Given the description of an element on the screen output the (x, y) to click on. 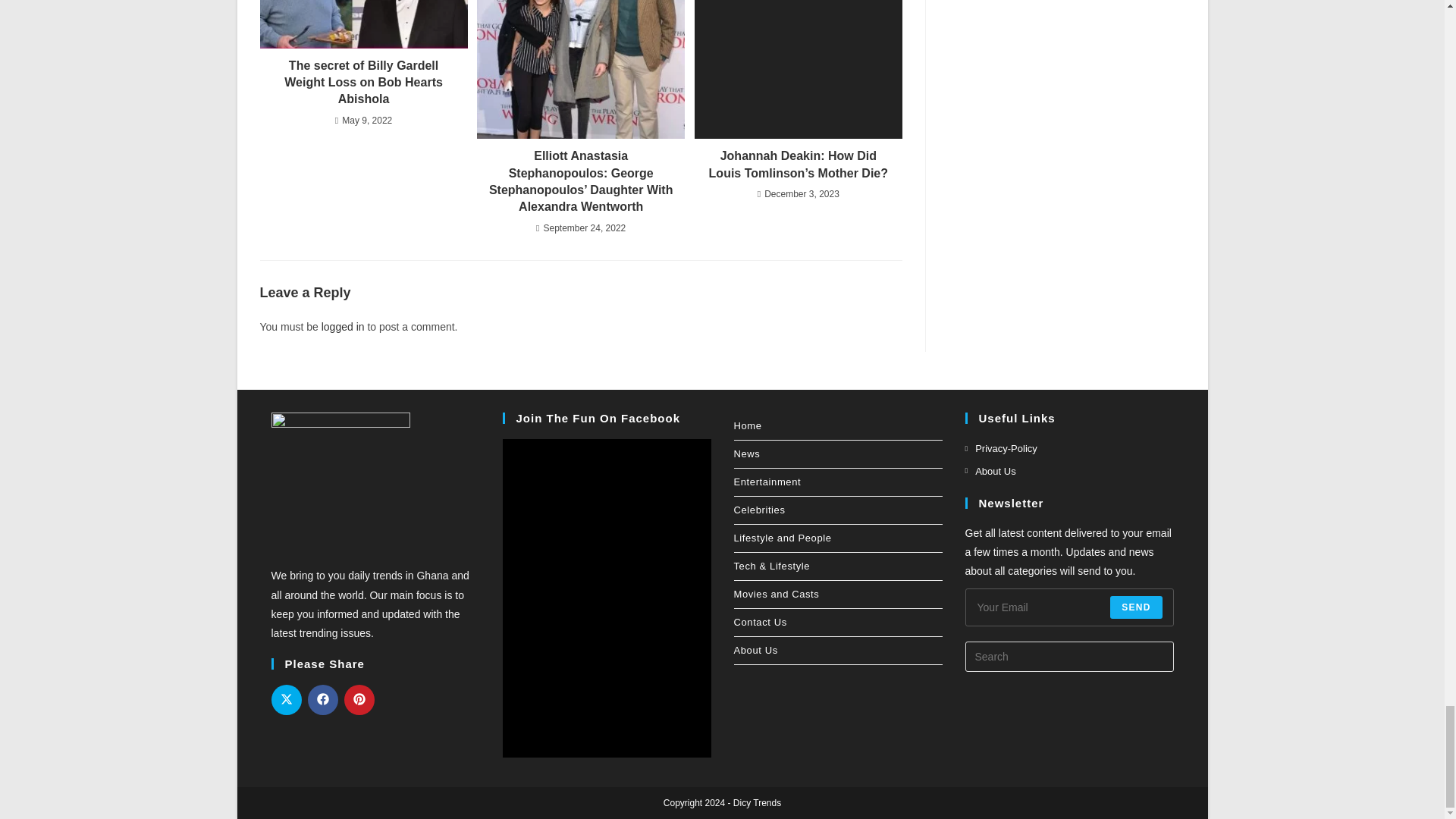
Share on Facebook (322, 699)
Share on X (285, 699)
Share on Pinterest (358, 699)
